Given the description of an element on the screen output the (x, y) to click on. 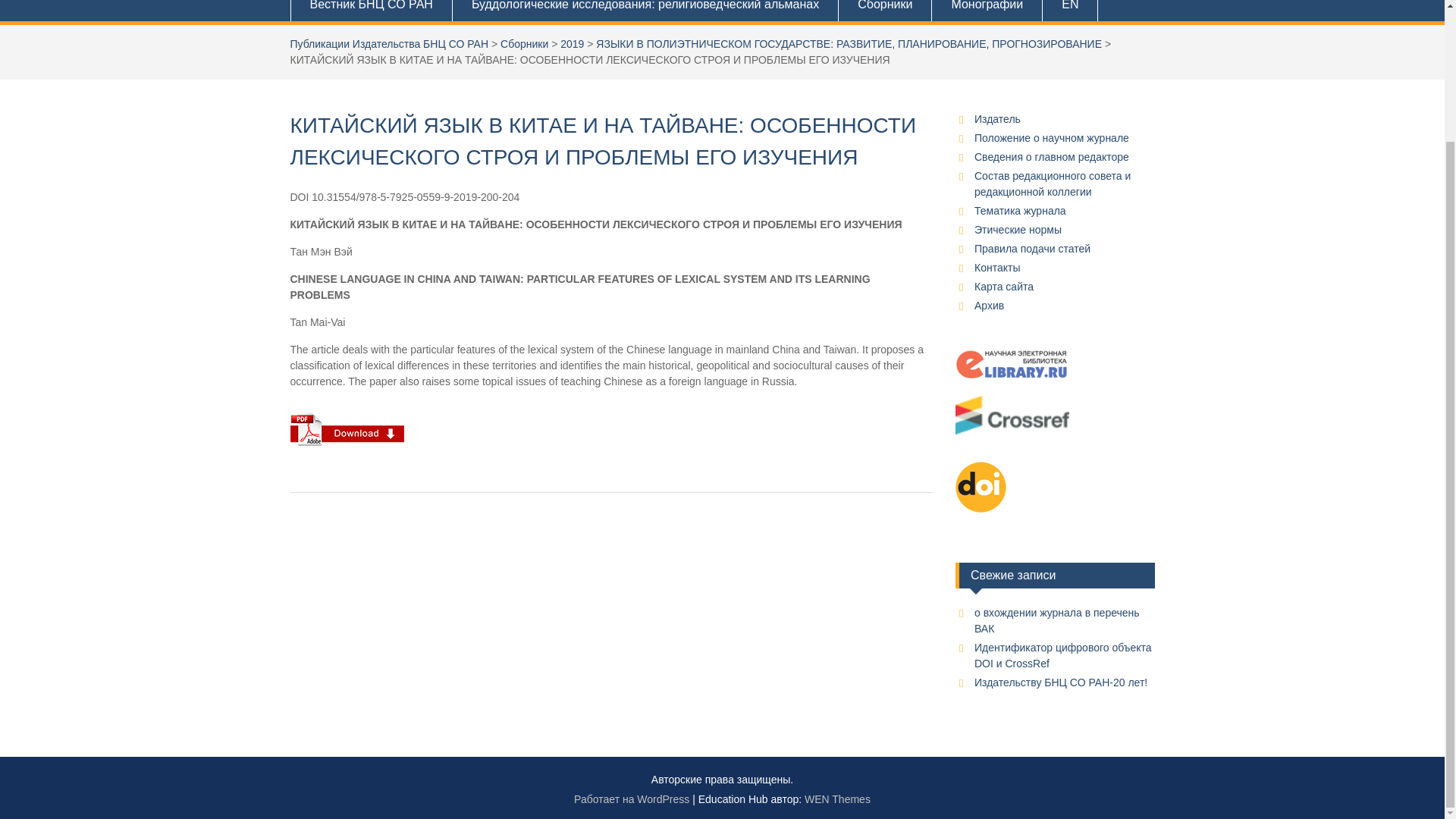
WEN Themes (837, 799)
2019 (571, 43)
EN (1069, 10)
